Given the description of an element on the screen output the (x, y) to click on. 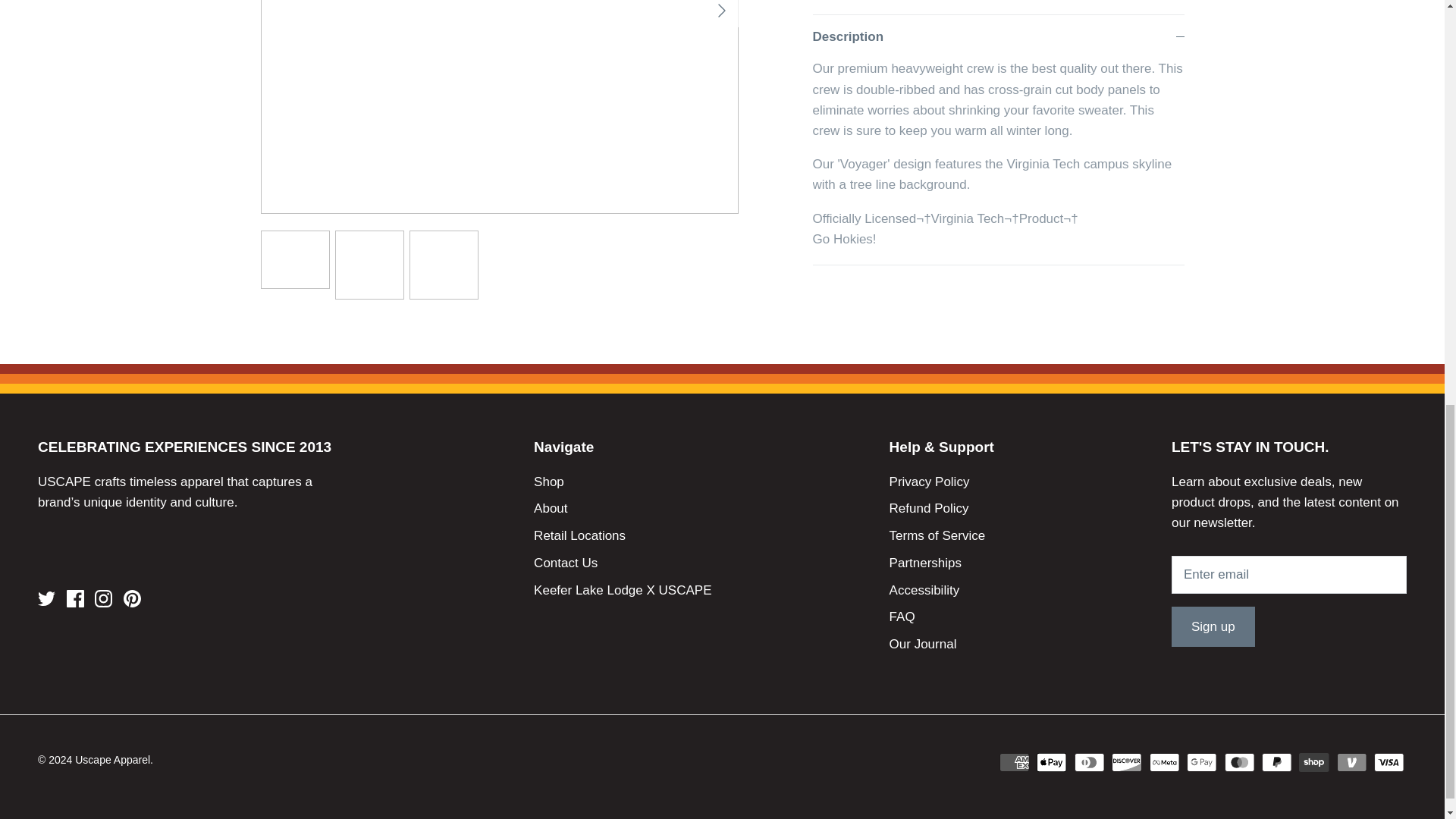
Discover (1126, 762)
Meta Pay (1164, 762)
Diners Club (1089, 762)
Facebook (75, 598)
Apple Pay (1051, 762)
Instagram (103, 598)
American Express (1013, 762)
Pinterest (132, 598)
Twitter (46, 598)
